Given the description of an element on the screen output the (x, y) to click on. 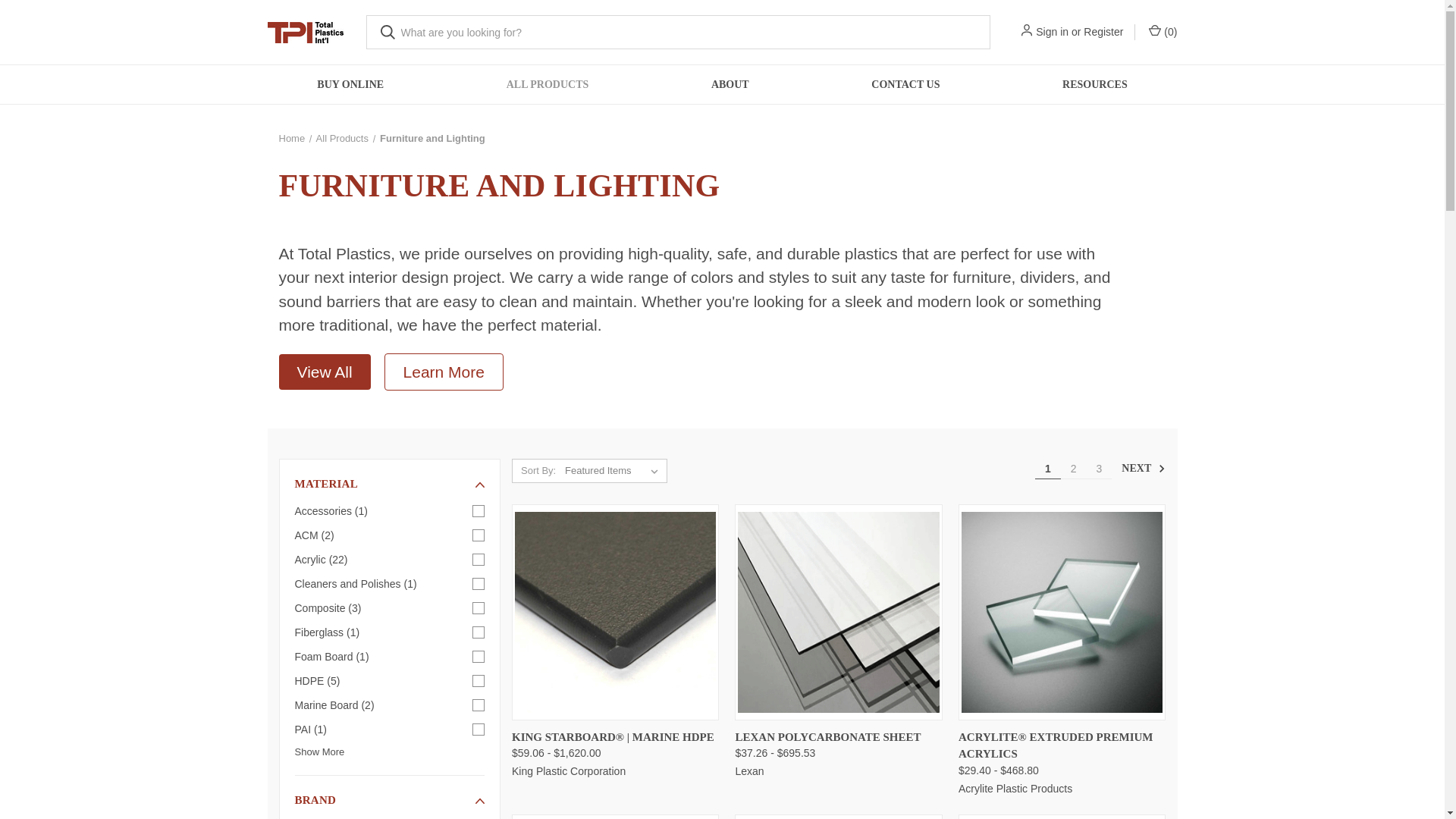
Register (1102, 32)
Learn More (443, 371)
BUY ONLINE (350, 84)
ABOUT (729, 84)
All Products (341, 138)
Learn More (443, 372)
Total Plastics (304, 31)
Furniture and Lighting (432, 138)
View All (325, 370)
Sign in (1051, 32)
CONTACT US (905, 84)
ALL PRODUCTS (547, 84)
RESOURCES (1094, 84)
View All (330, 372)
Lexan Polycarbonate Sheet Total Plastics (838, 611)
